Given the description of an element on the screen output the (x, y) to click on. 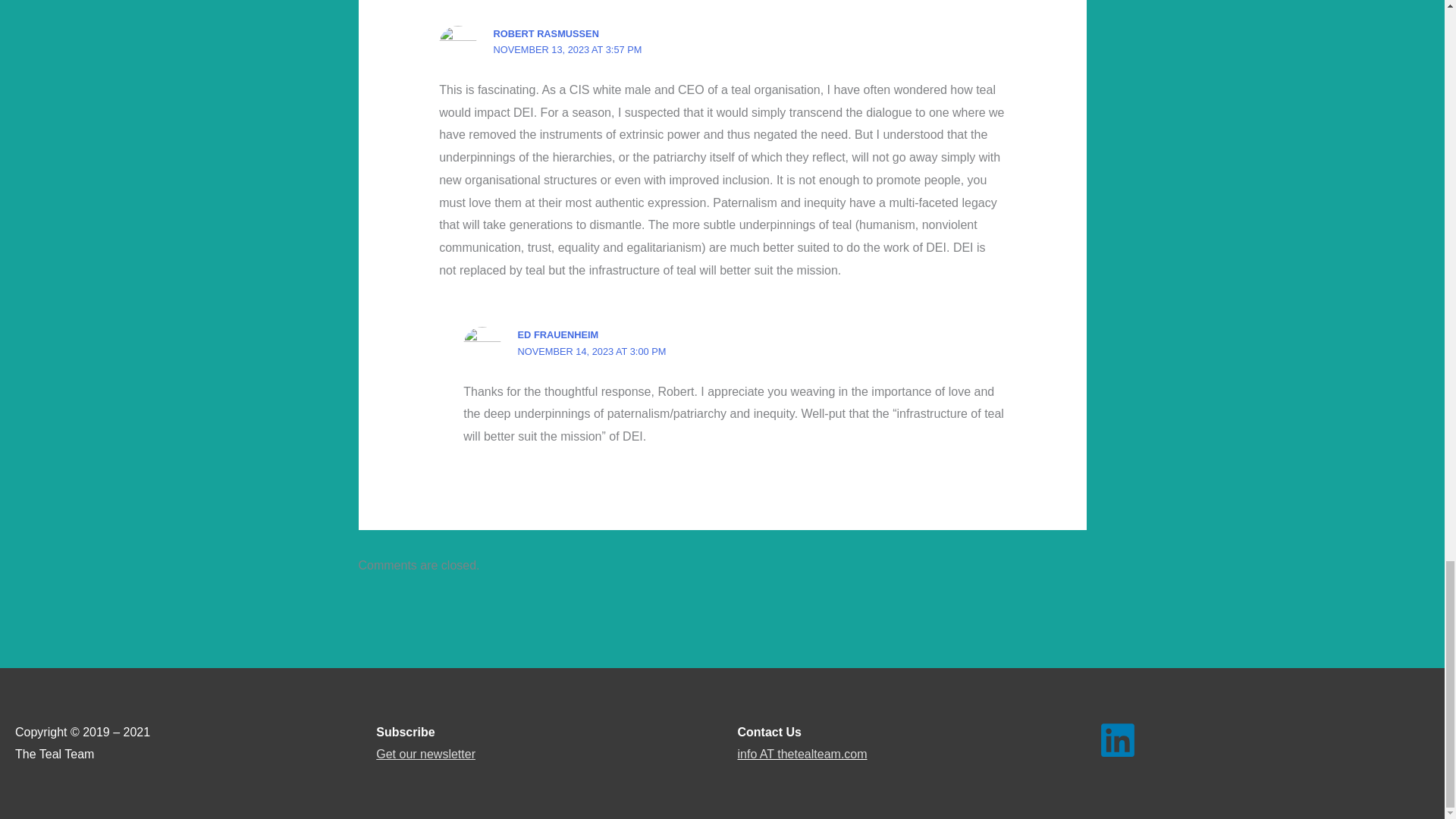
NOVEMBER 13, 2023 AT 3:57 PM (567, 49)
Get our newsletter (425, 753)
info AT thetealteam.com (801, 753)
ED FRAUENHEIM (558, 334)
NOVEMBER 14, 2023 AT 3:00 PM (592, 351)
ROBERT RASMUSSEN (545, 33)
